Given the description of an element on the screen output the (x, y) to click on. 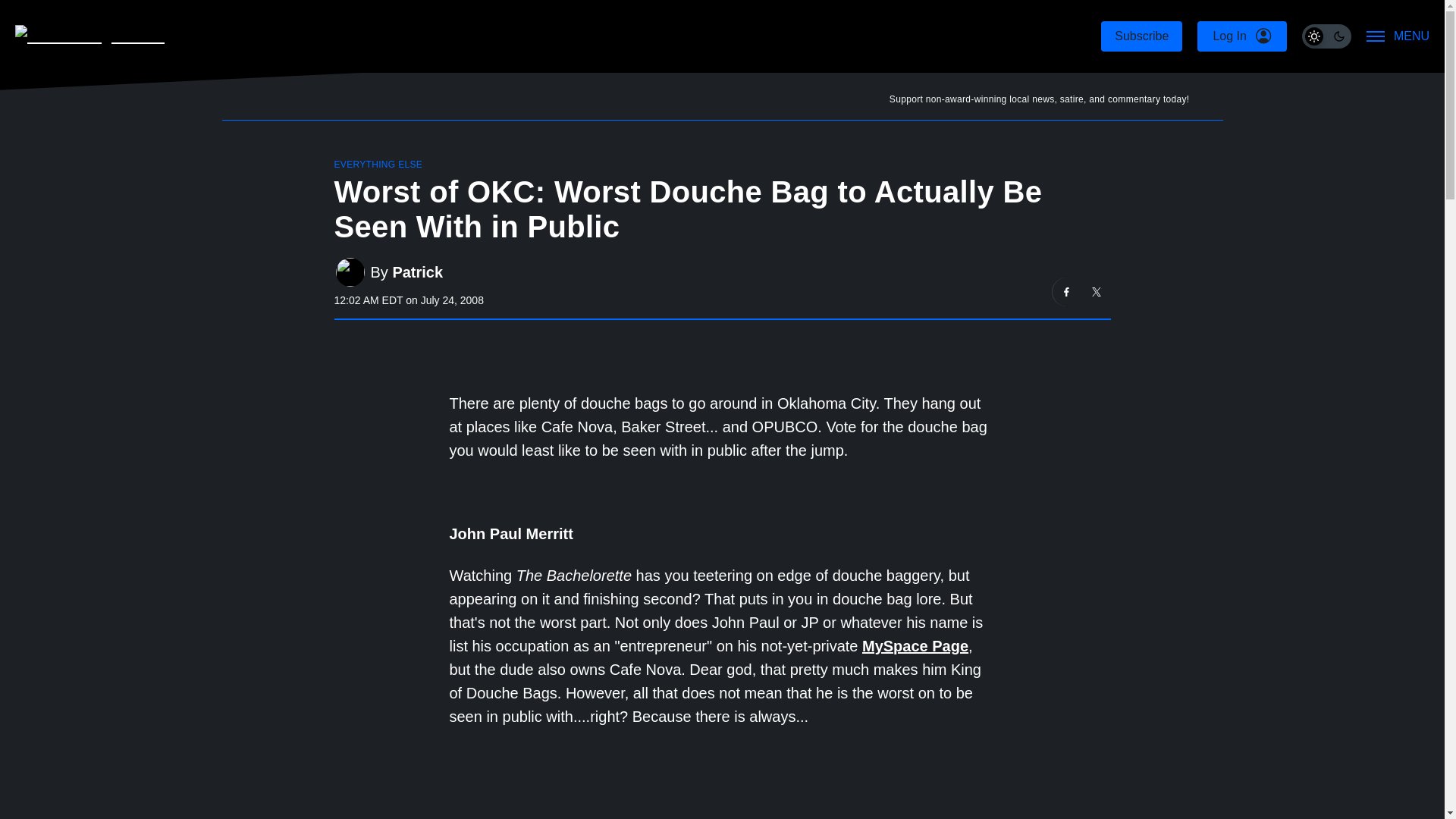
Share on Facebook (1066, 291)
Log In (1240, 36)
Patrick (416, 272)
MySpace Page (914, 646)
MENU (1398, 36)
EVERYTHING ELSE (377, 163)
Subscribe (1141, 36)
